Given the description of an element on the screen output the (x, y) to click on. 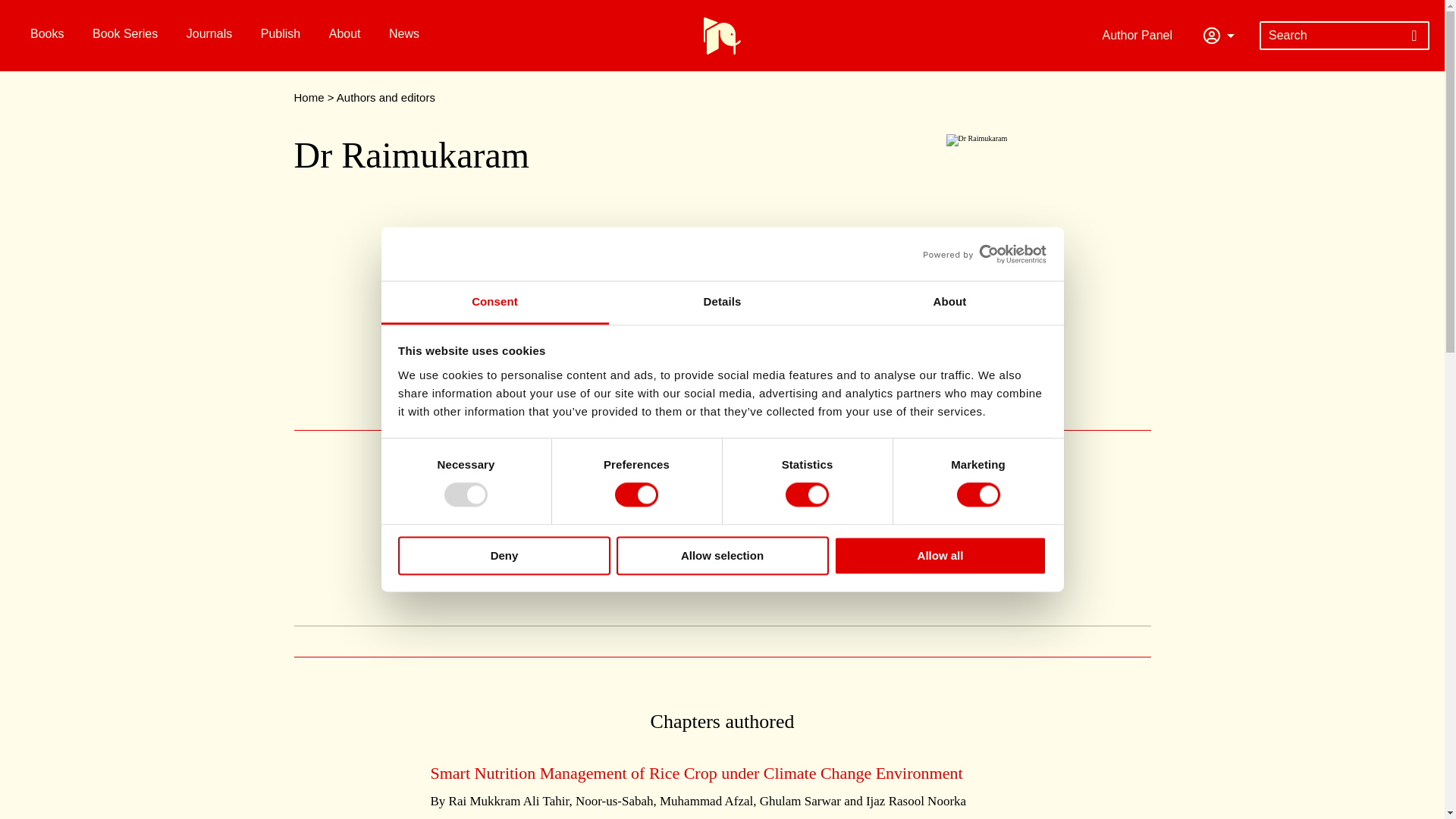
About (948, 302)
Consent (494, 302)
Details (721, 302)
